Given the description of an element on the screen output the (x, y) to click on. 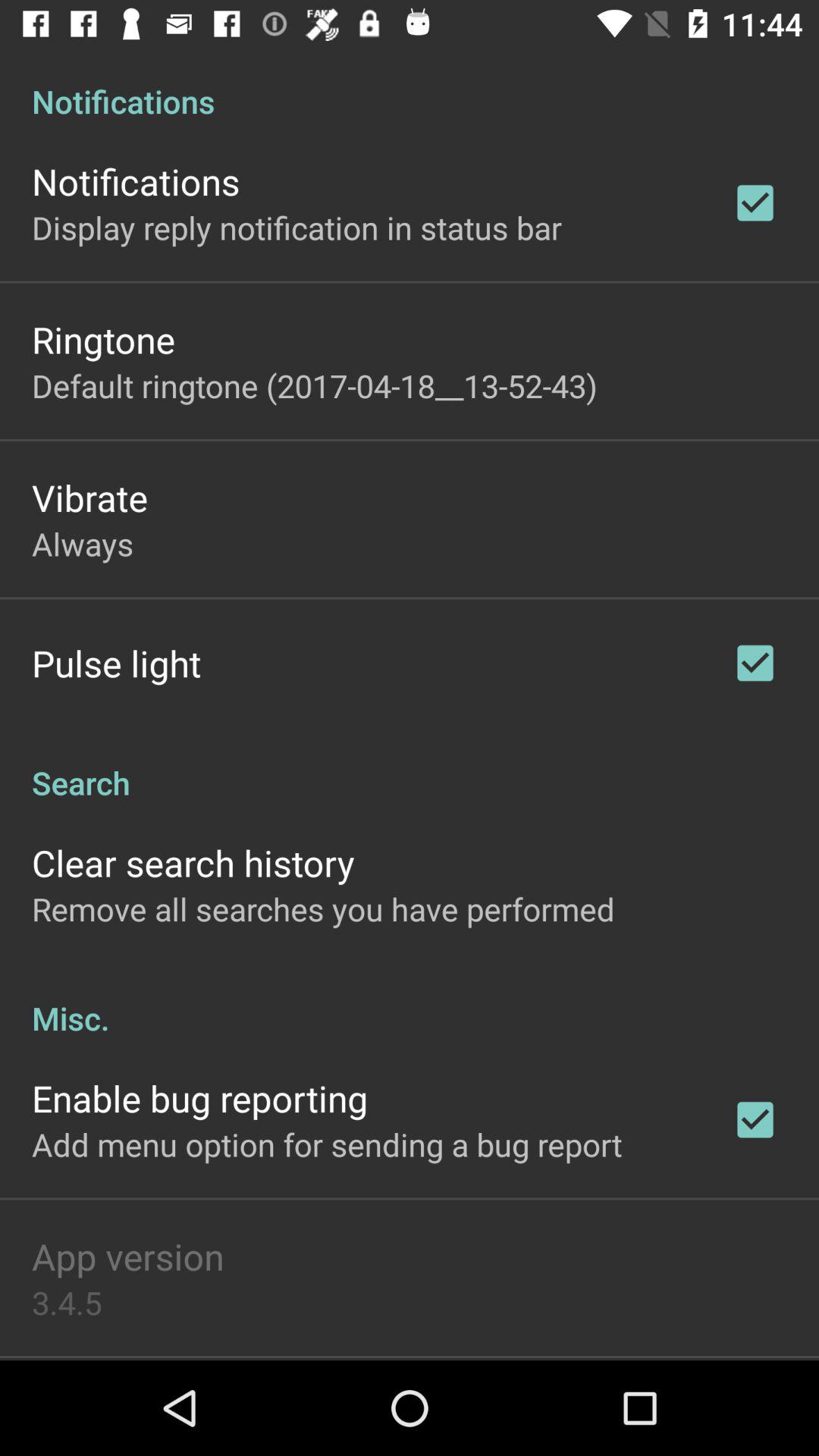
click app below clear search history icon (322, 908)
